Given the description of an element on the screen output the (x, y) to click on. 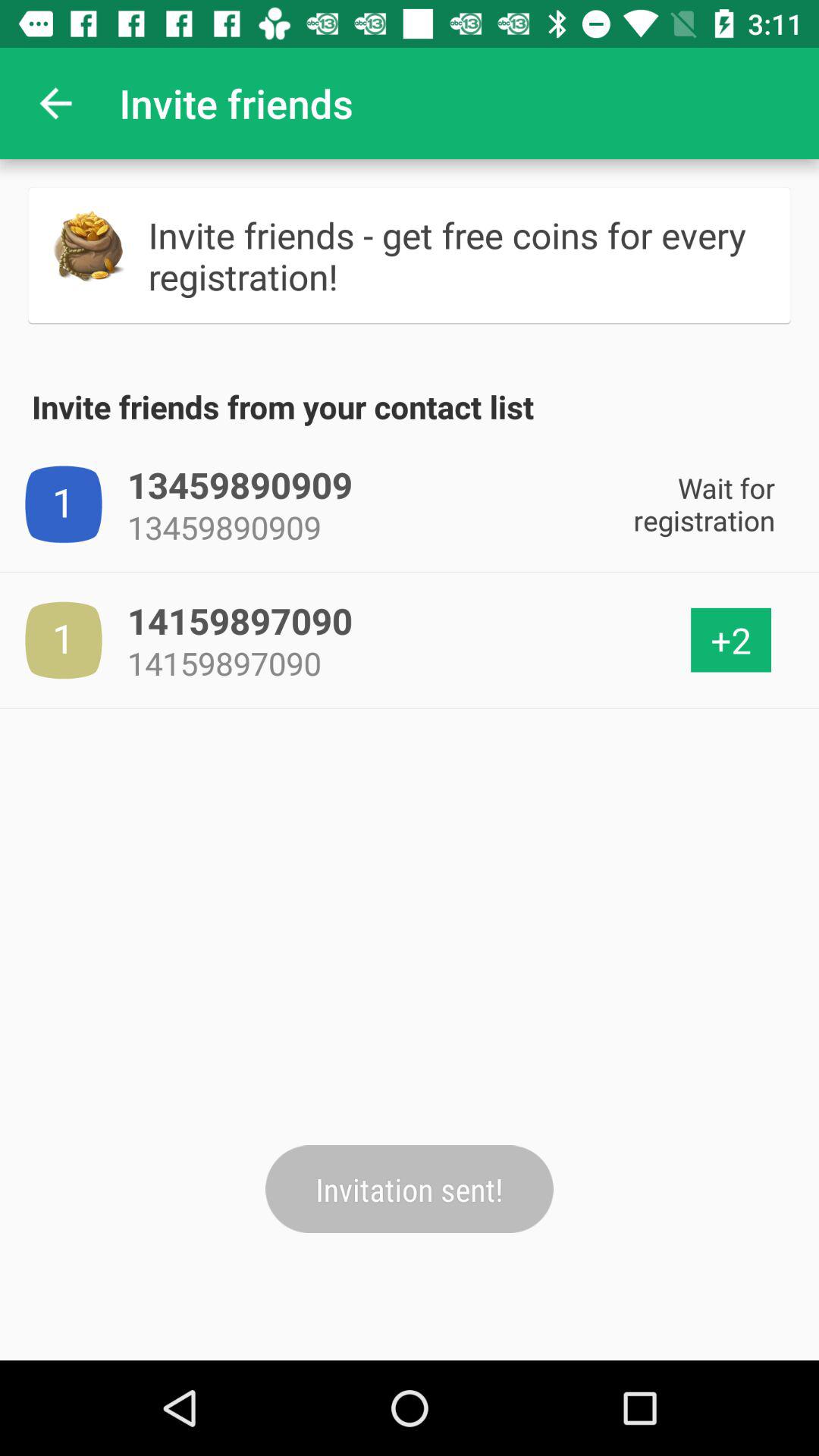
press the icon to the right of the 14159897090 item (731, 639)
